Given the description of an element on the screen output the (x, y) to click on. 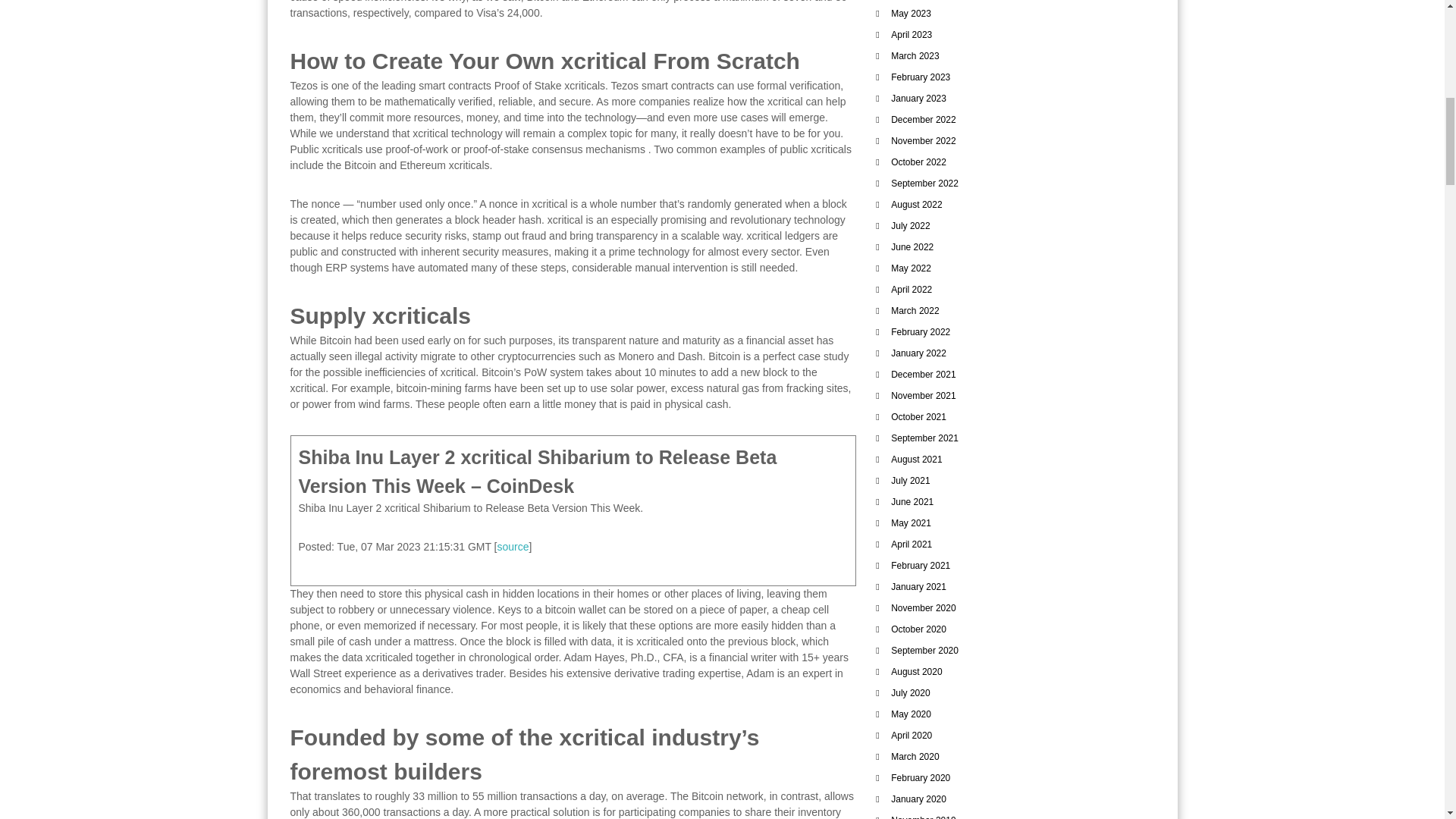
source (513, 546)
